Given the description of an element on the screen output the (x, y) to click on. 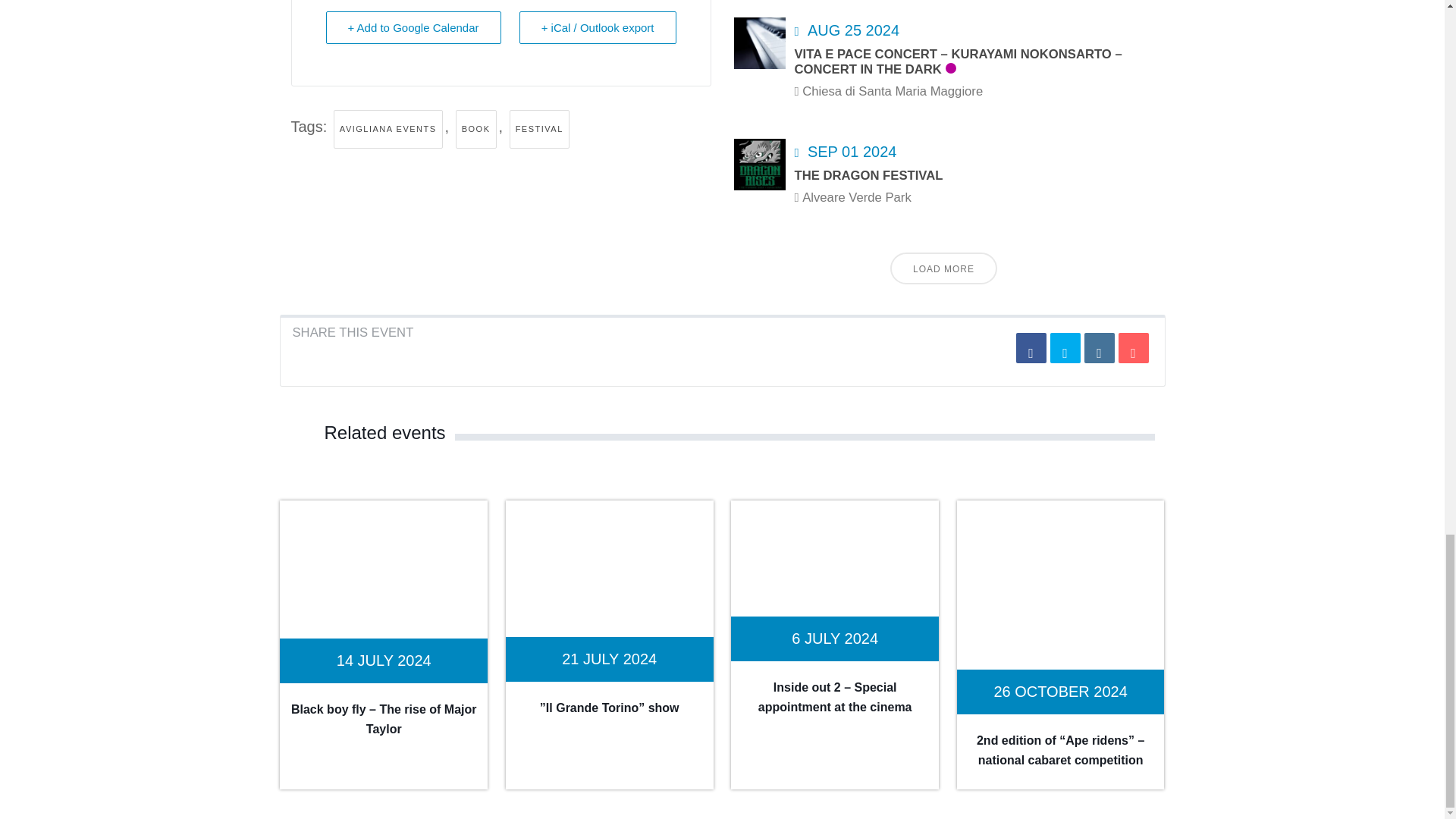
Share on Facebook (1031, 347)
Tweet (1064, 347)
Linkedin (1099, 347)
Email (1133, 347)
